Given the description of an element on the screen output the (x, y) to click on. 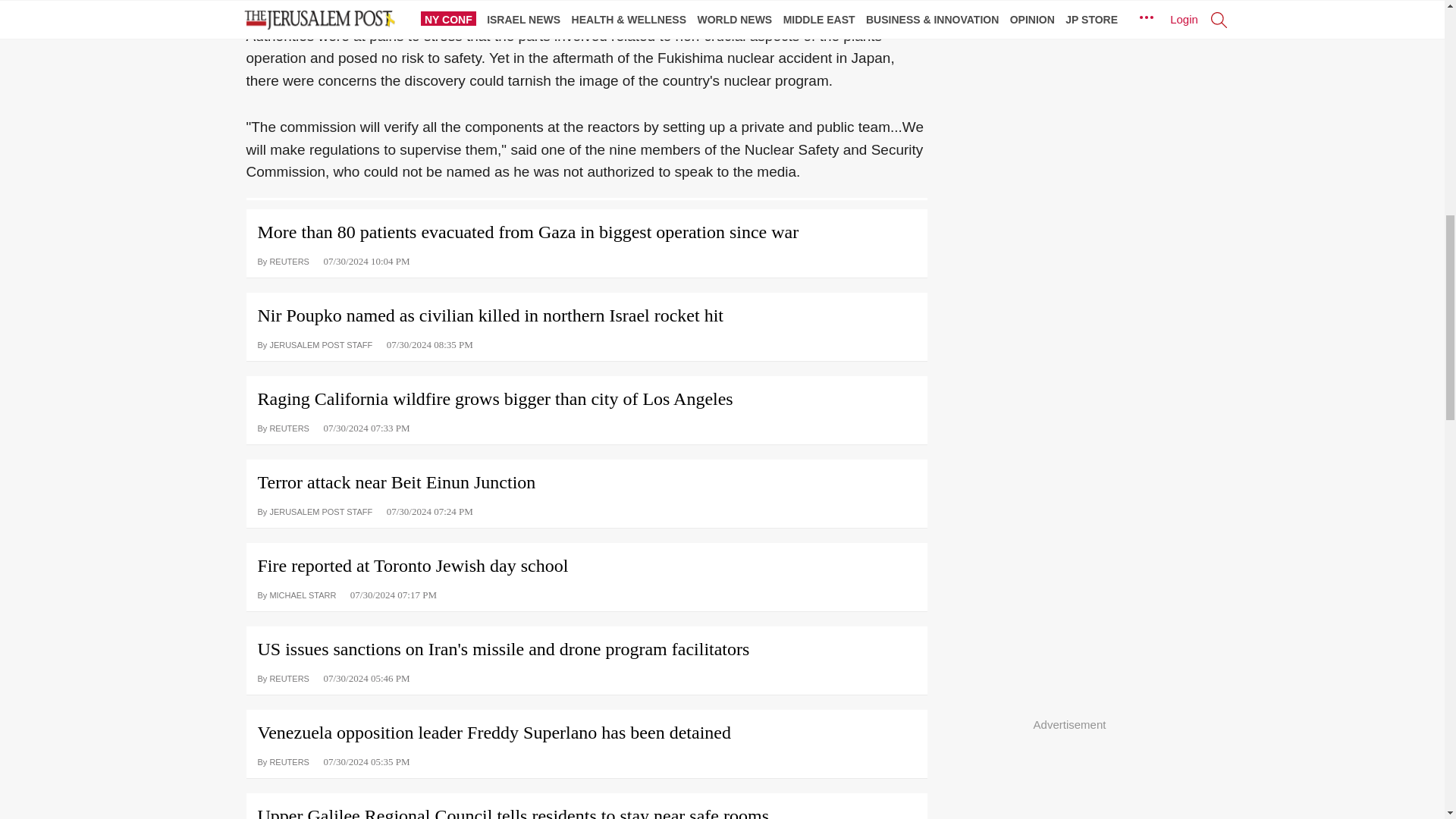
Fire reported at Toronto Jewish day school (586, 559)
By JERUSALEM POST STAFF (314, 343)
Terror attack near Beit Einun Junction (586, 476)
By JERUSALEM POST STAFF (314, 510)
Fire reported at Toronto Jewish day school (586, 559)
Terror attack near Beit Einun Junction (586, 476)
